Given the description of an element on the screen output the (x, y) to click on. 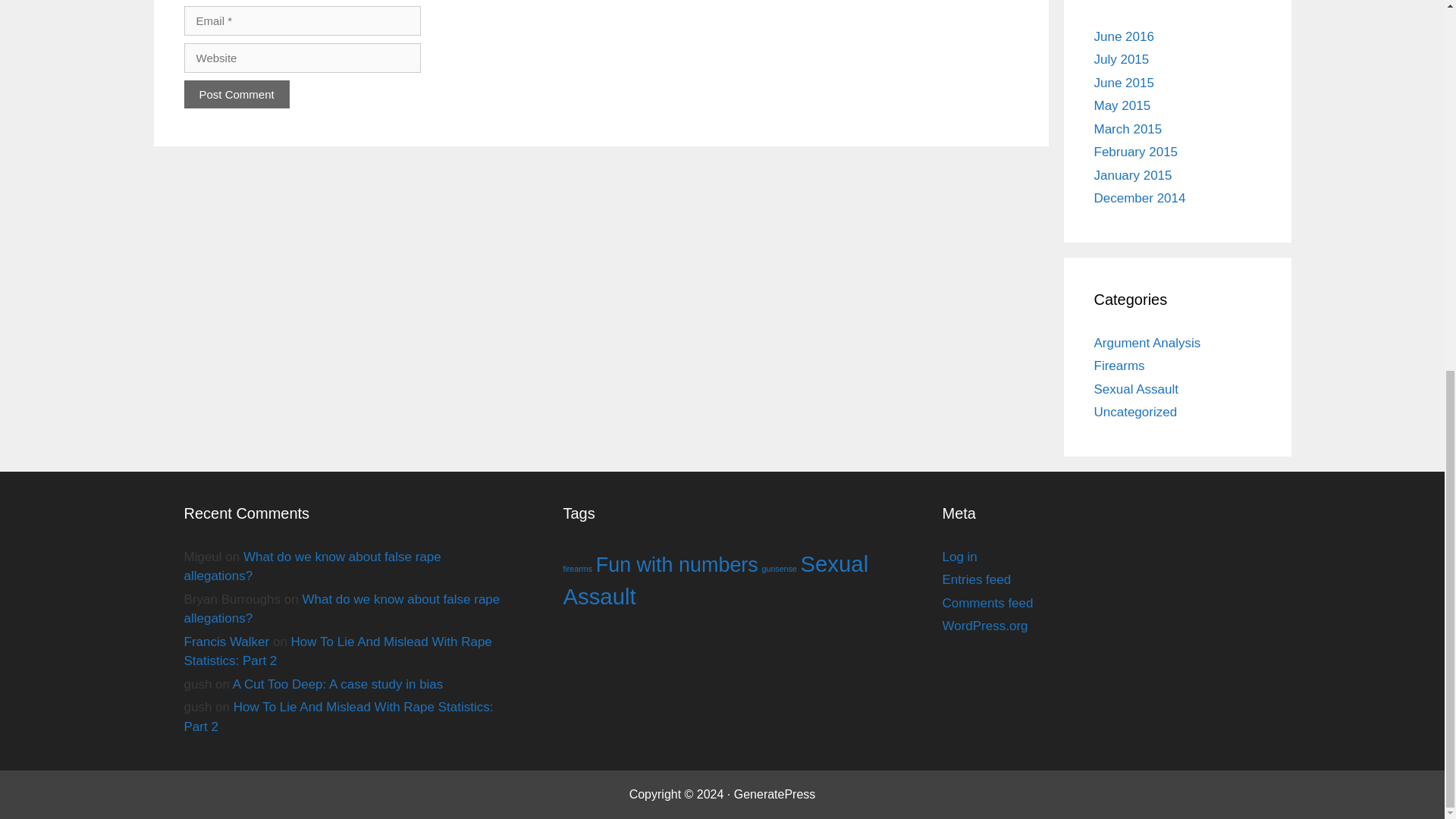
firearms (576, 567)
Francis Walker (226, 641)
March 2015 (1127, 129)
February 2015 (1135, 151)
Firearms (1118, 365)
Log in (959, 556)
A Cut Too Deep: A case study in bias (338, 684)
May 2015 (1121, 105)
Post Comment (235, 93)
How To Lie And Mislead With Rape Statistics: Part 2 (338, 716)
